Given the description of an element on the screen output the (x, y) to click on. 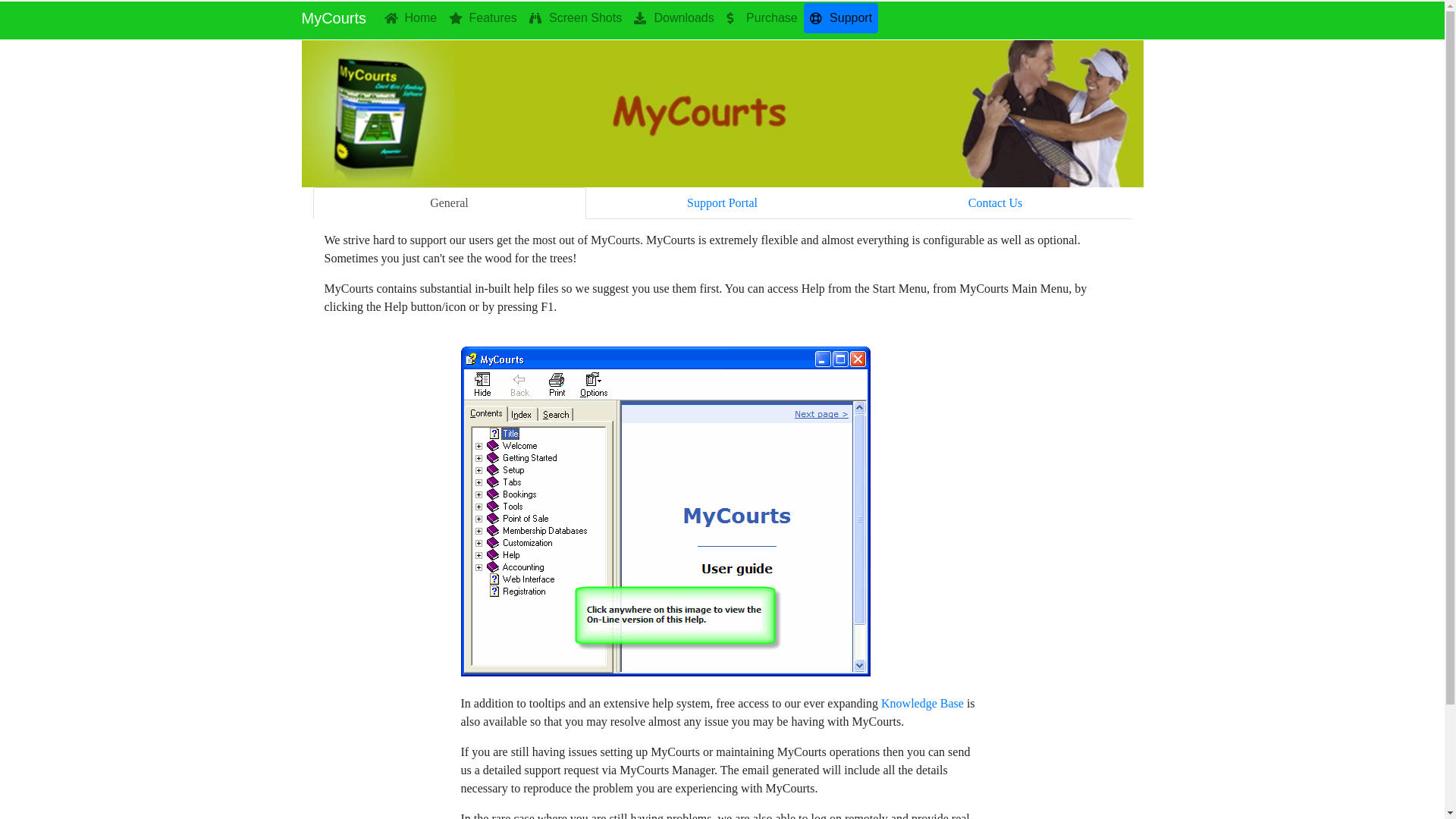
Features Element type: text (482, 18)
Purchase Element type: text (761, 18)
Screen Shots Element type: text (575, 18)
Support Element type: text (840, 18)
MyCourts Element type: text (334, 18)
Downloads Element type: text (673, 18)
Support Portal Element type: text (721, 203)
General Element type: text (448, 203)
Home Element type: text (410, 18)
Knowledge Base Element type: text (922, 702)
Contact Us Element type: text (994, 203)
